Given the description of an element on the screen output the (x, y) to click on. 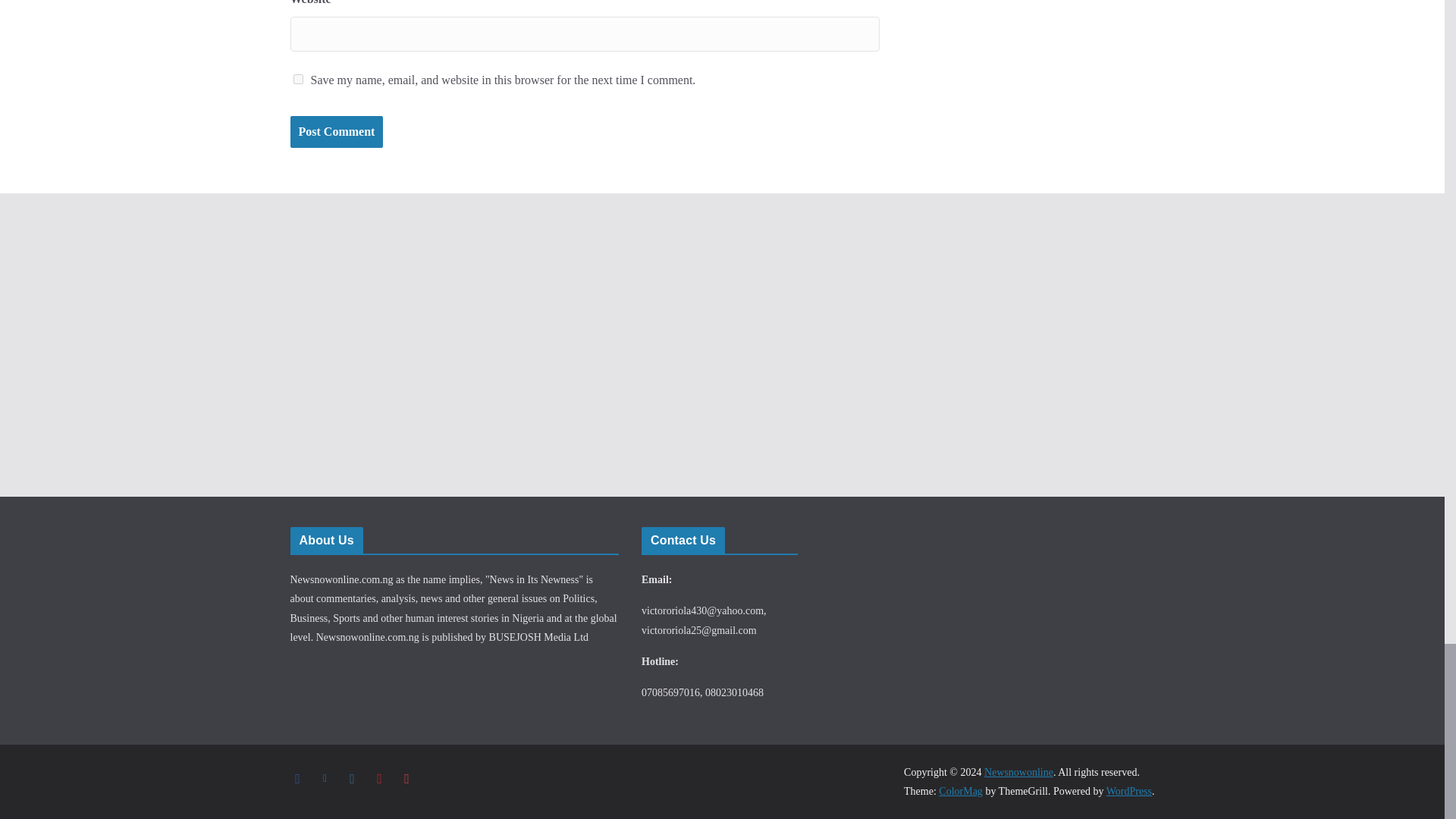
Post Comment (335, 132)
yes (297, 79)
